Given the description of an element on the screen output the (x, y) to click on. 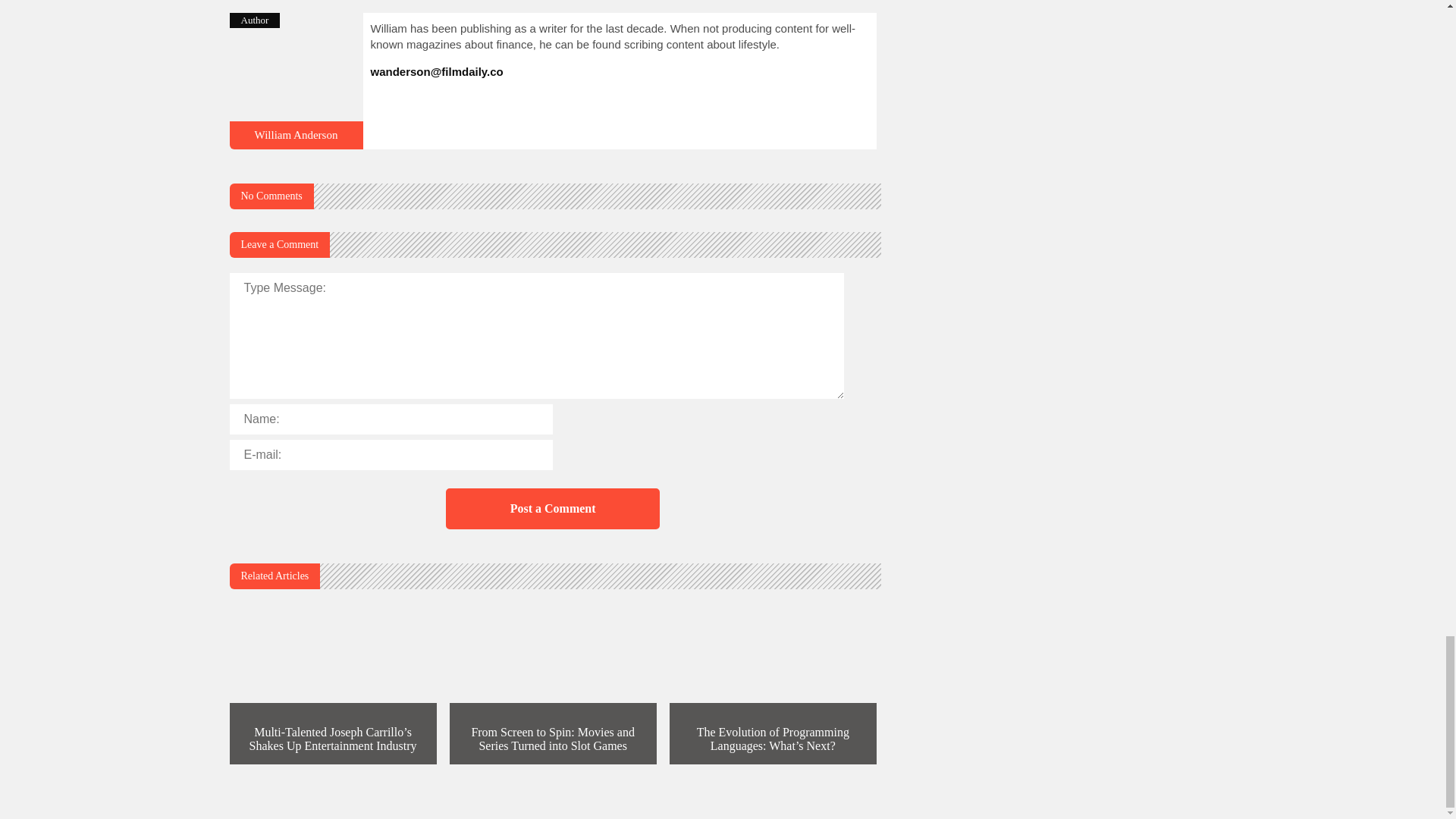
Why You Should Invest In A Legal Practice Software (295, 134)
Why You Should Invest In A Legal Practice Software (295, 142)
Post a Comment (552, 508)
